Given the description of an element on the screen output the (x, y) to click on. 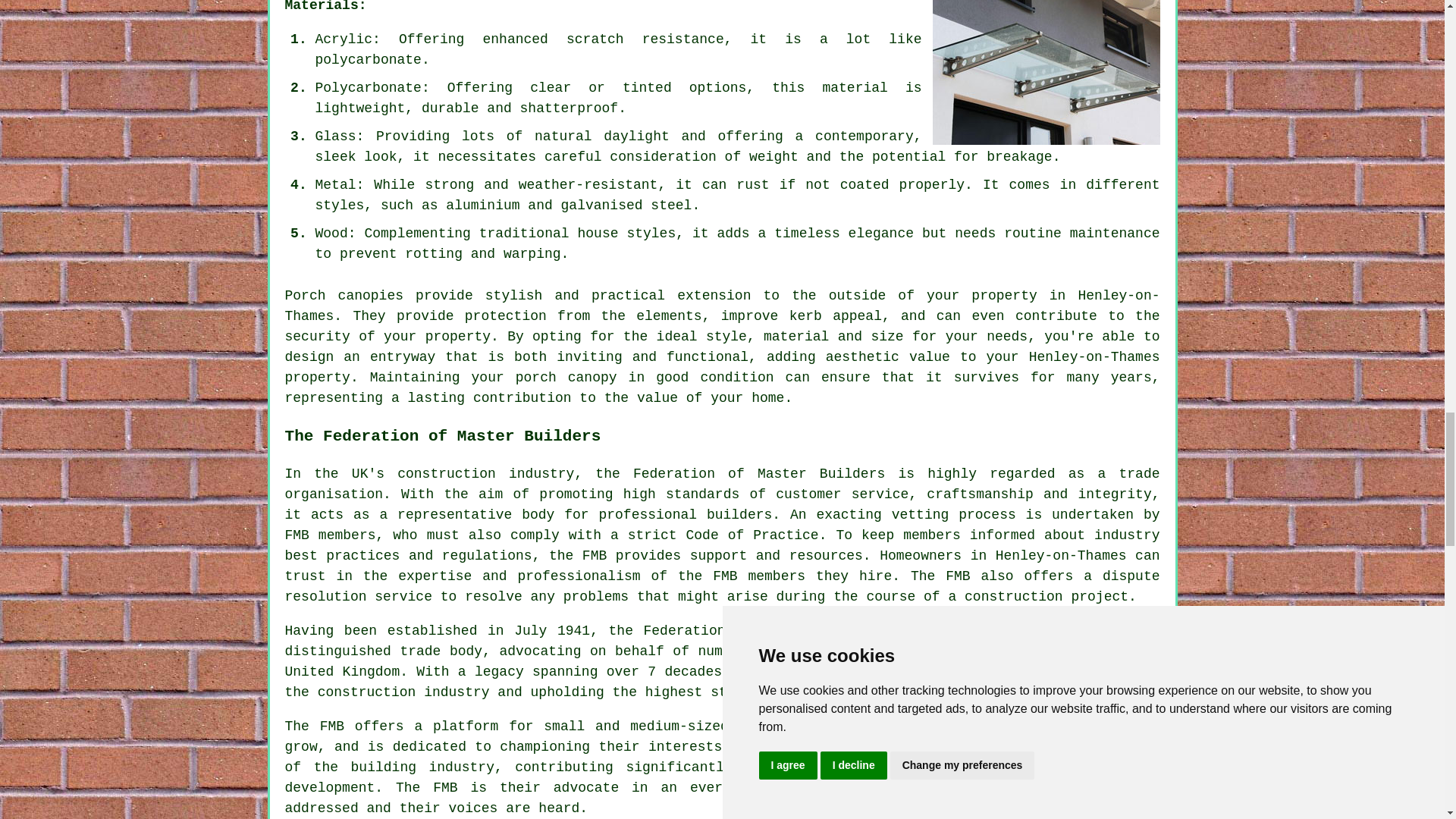
construction (446, 473)
Overdoor Canopy Henley-on-Thames (1046, 72)
canopies (370, 295)
